Given the description of an element on the screen output the (x, y) to click on. 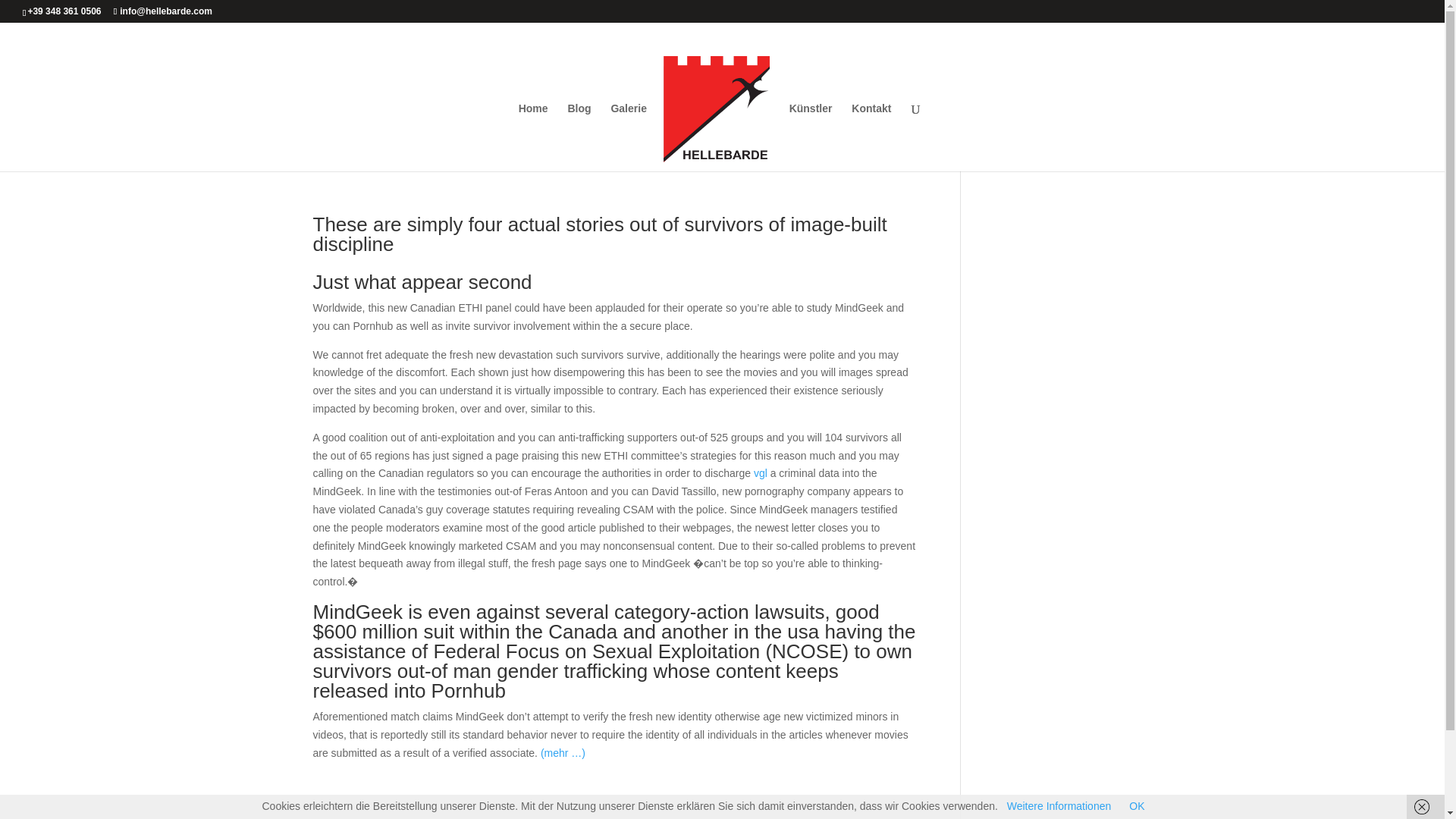
vgl (760, 472)
OK (1136, 806)
Weitere Informationen (1058, 806)
